Given the description of an element on the screen output the (x, y) to click on. 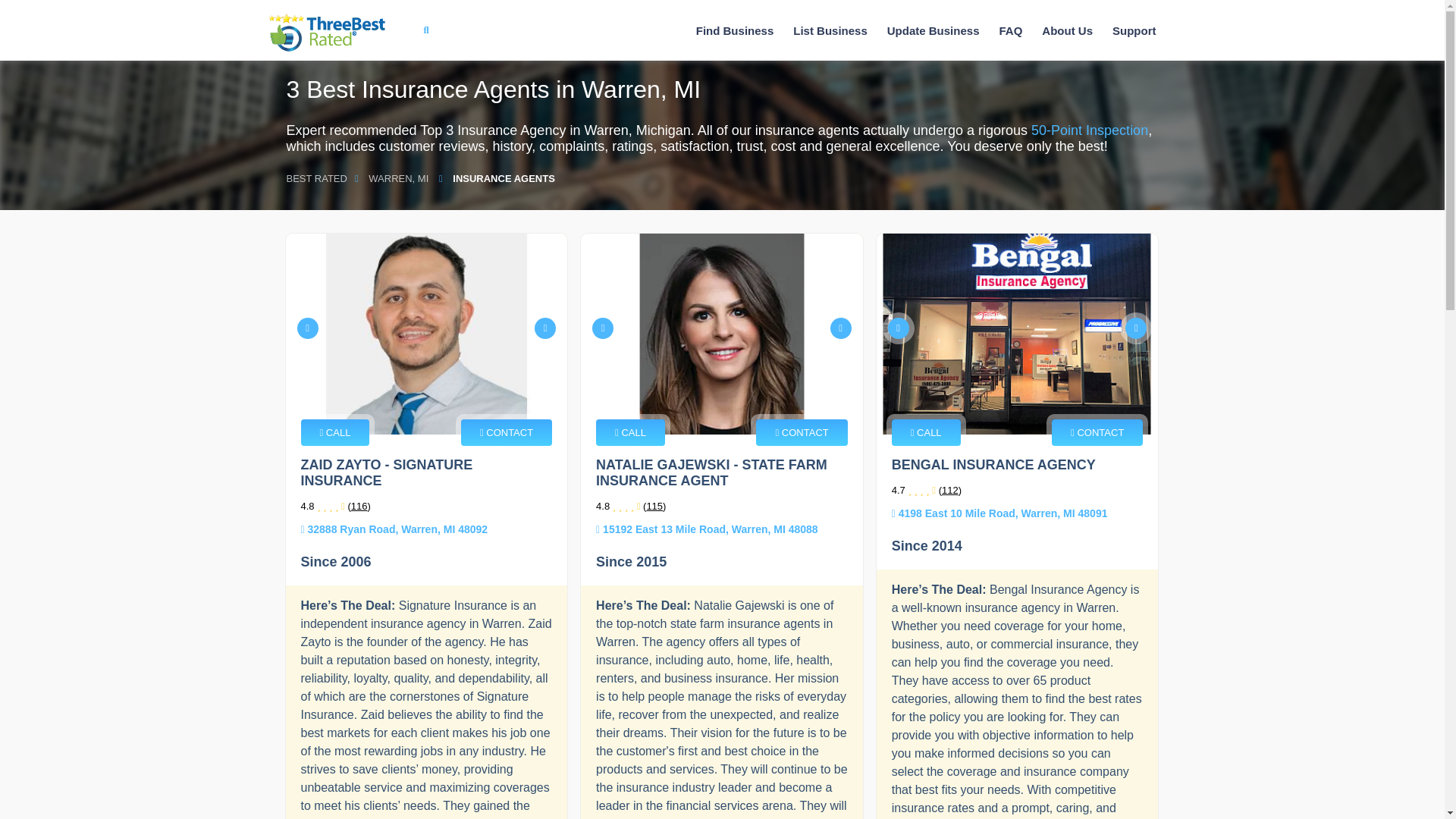
Find Business (734, 30)
BEST RATED (317, 178)
32888 Ryan Road, Warren, MI 48092 (393, 529)
WARREN, MI (398, 178)
Bengal Insurance Agency Warren Insurance Agents (1017, 333)
ThreeBestRated.com (325, 32)
15192 East 13 Mile Road, Warren, MI 48088 (706, 529)
About Us (1066, 30)
CALL (334, 432)
Update Business (933, 30)
Directions to Natalie Gajewski - STATE FARM INSURANCE AGENT (706, 529)
Directions to Zaid Zayto - Signature Insurance (393, 529)
116 (359, 505)
FAQ (1010, 30)
